Given the description of an element on the screen output the (x, y) to click on. 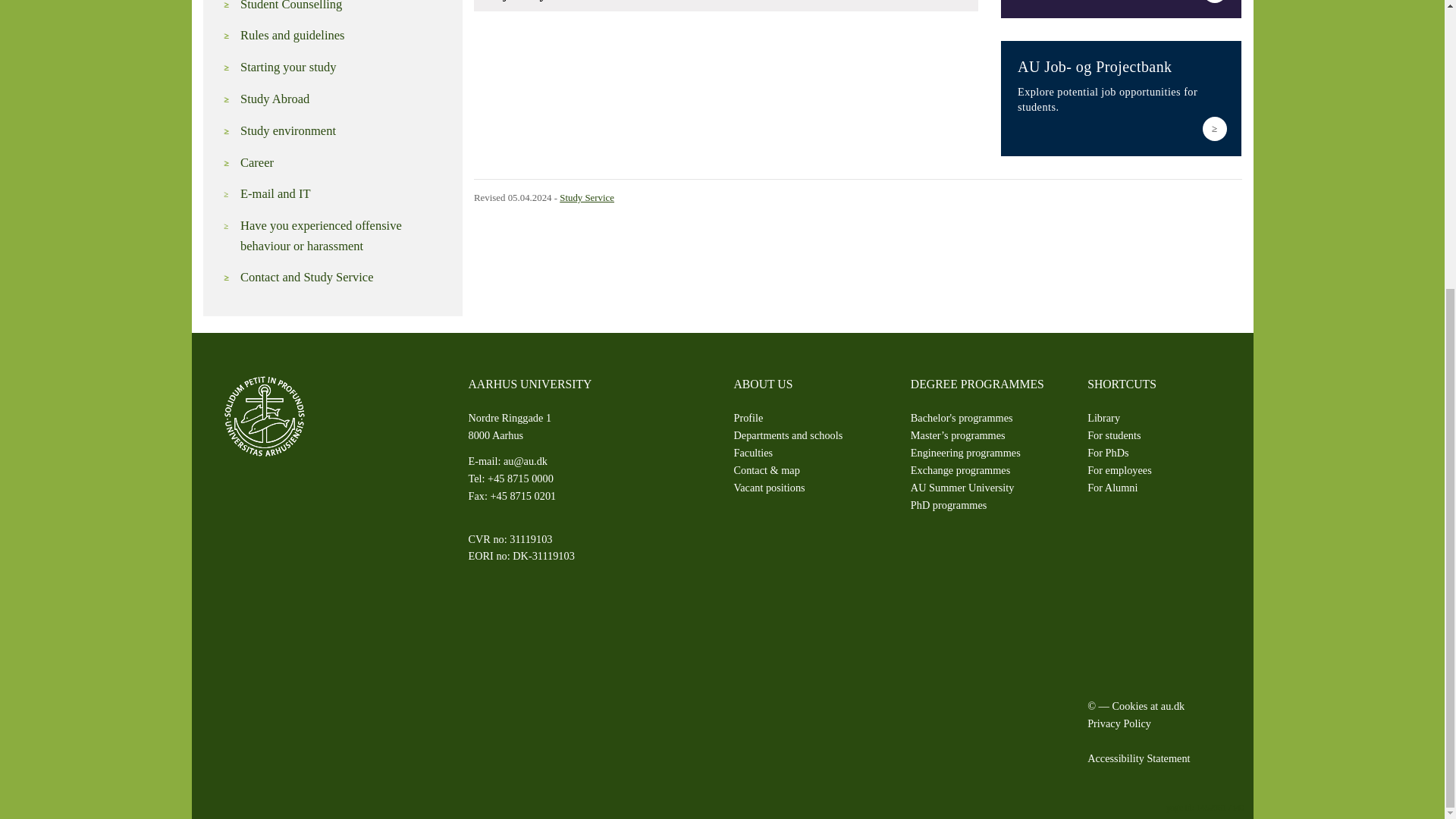
Student Counselling (342, 7)
Career (342, 162)
Rules and guidelines (342, 35)
Study Abroad (342, 98)
E-mail and IT (342, 193)
Have you experienced offensive behaviour or harassment (342, 236)
Study environment (342, 130)
Contact and Study Service (342, 277)
Starting your study (342, 66)
